Given the description of an element on the screen output the (x, y) to click on. 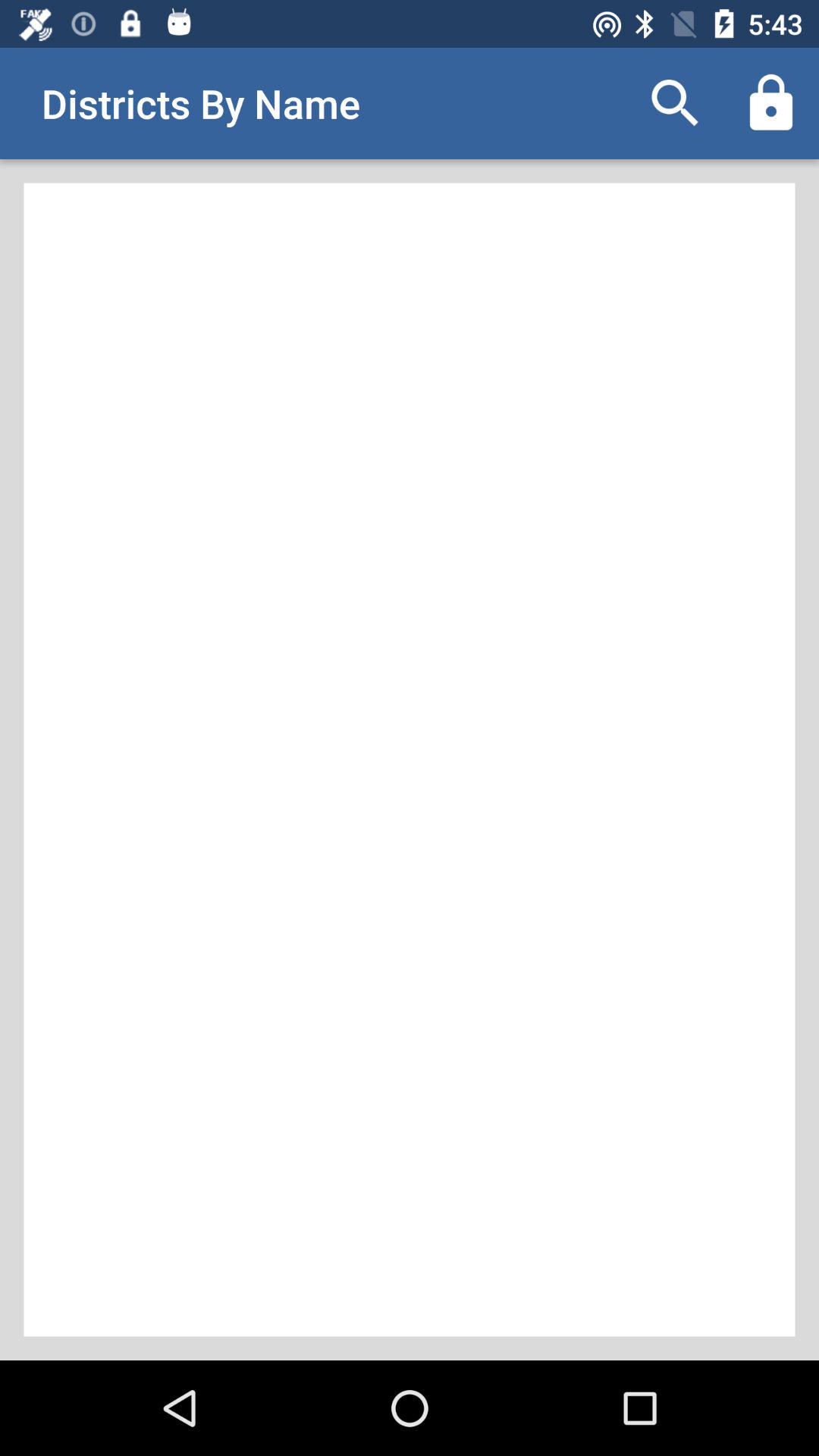
press icon next to the  districts by name icon (675, 103)
